Given the description of an element on the screen output the (x, y) to click on. 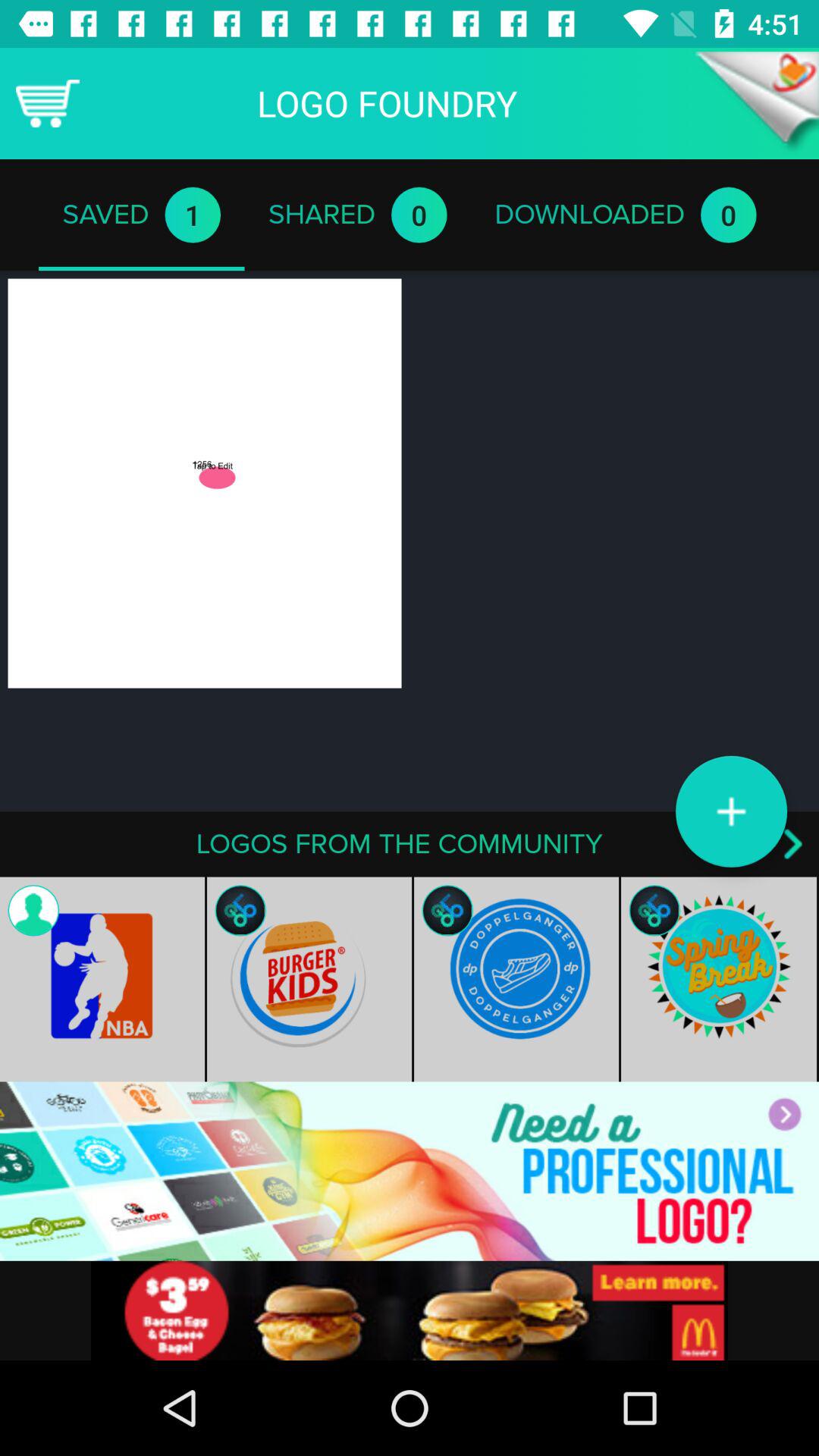
open advertisement (409, 1170)
